Given the description of an element on the screen output the (x, y) to click on. 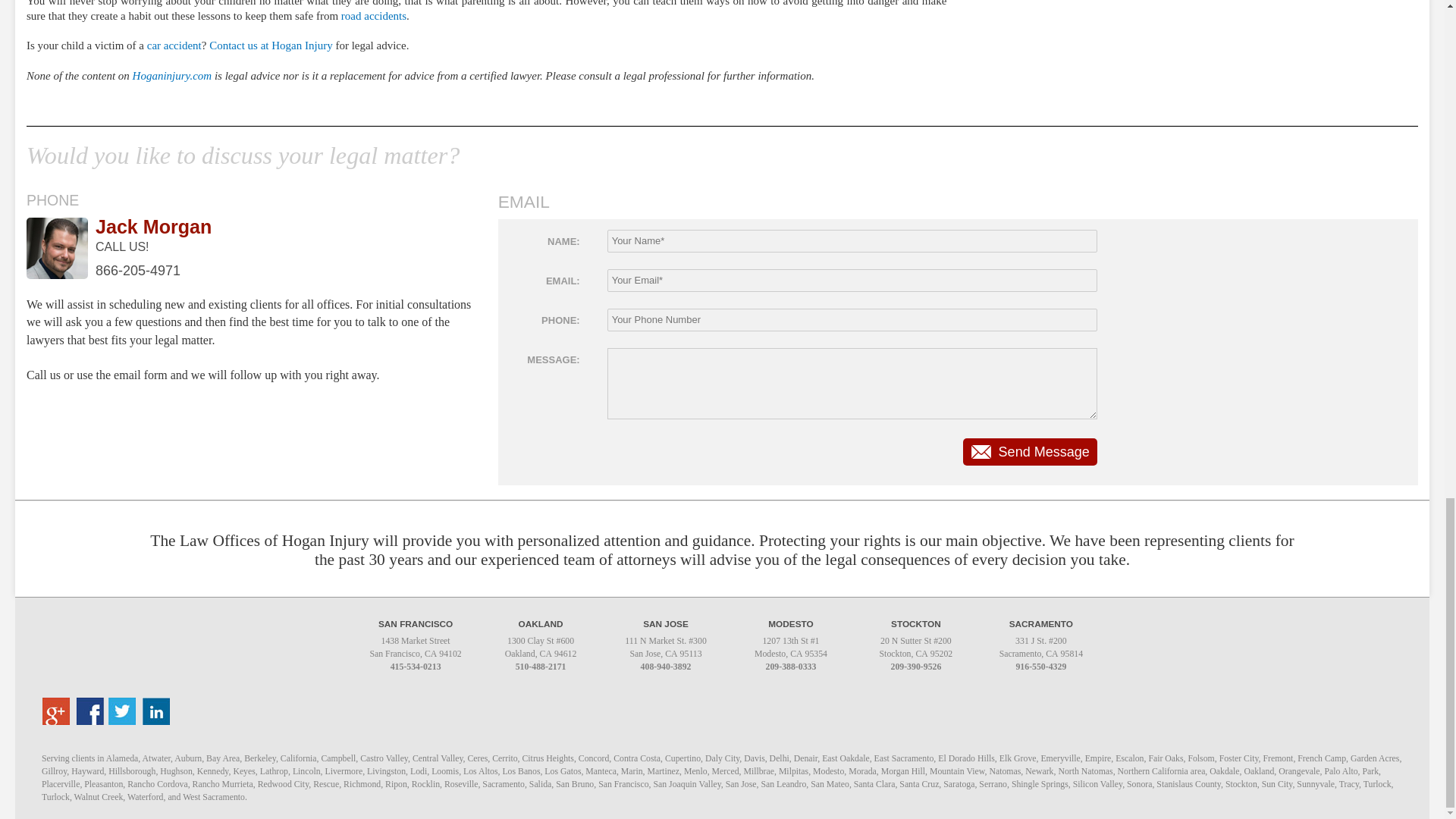
Contact us at Hogan Injury (270, 45)
car accident (173, 45)
road accidents (373, 15)
Send Message (1029, 452)
Hoganinjury.com (172, 75)
